Given the description of an element on the screen output the (x, y) to click on. 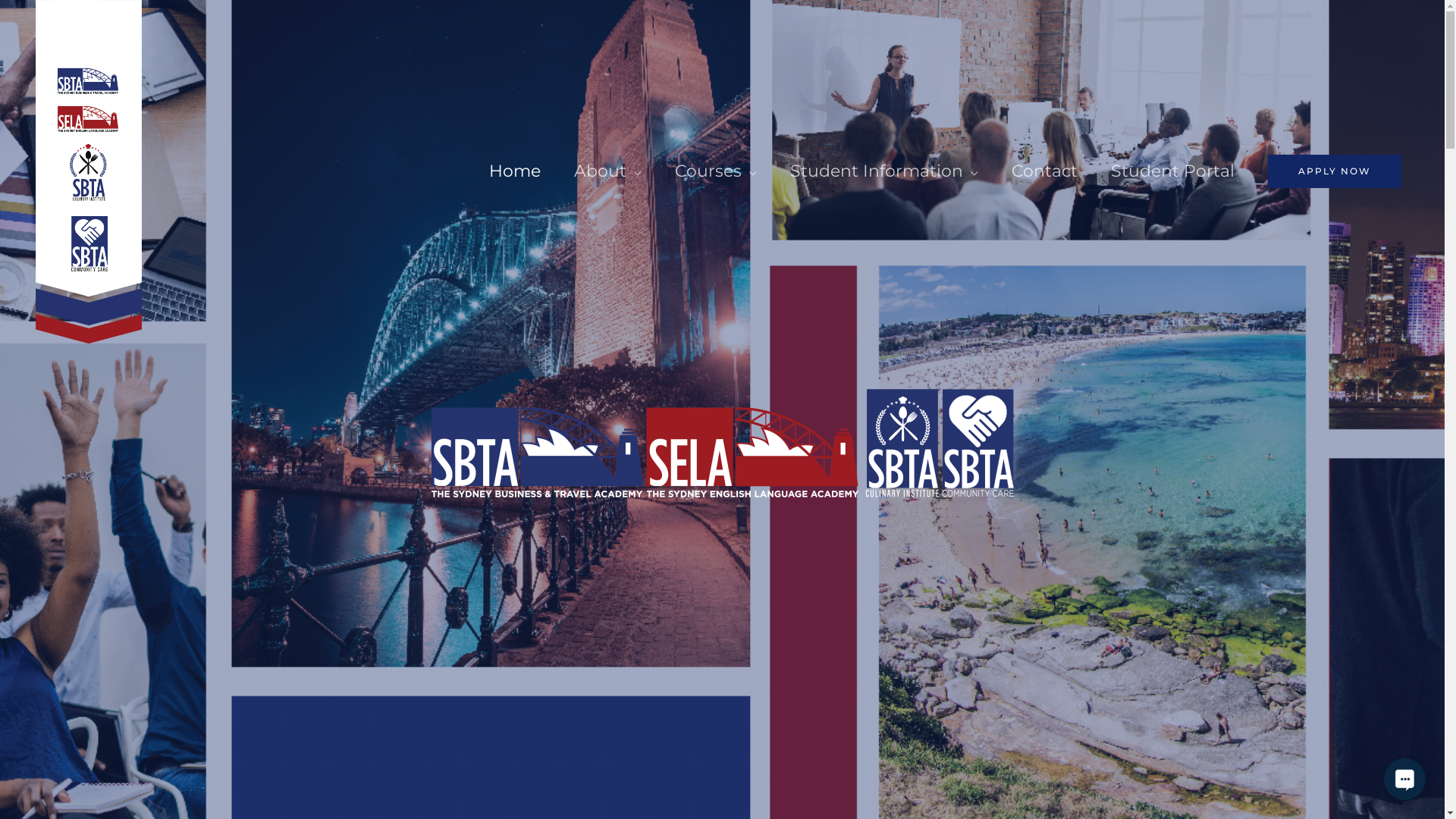
Courses Element type: text (715, 171)
About Element type: text (607, 171)
APPLY NOW Element type: text (1334, 171)
Home Element type: text (514, 171)
Student Portal Element type: text (1172, 171)
Contact Element type: text (1044, 171)
Student Information Element type: text (883, 171)
